Given the description of an element on the screen output the (x, y) to click on. 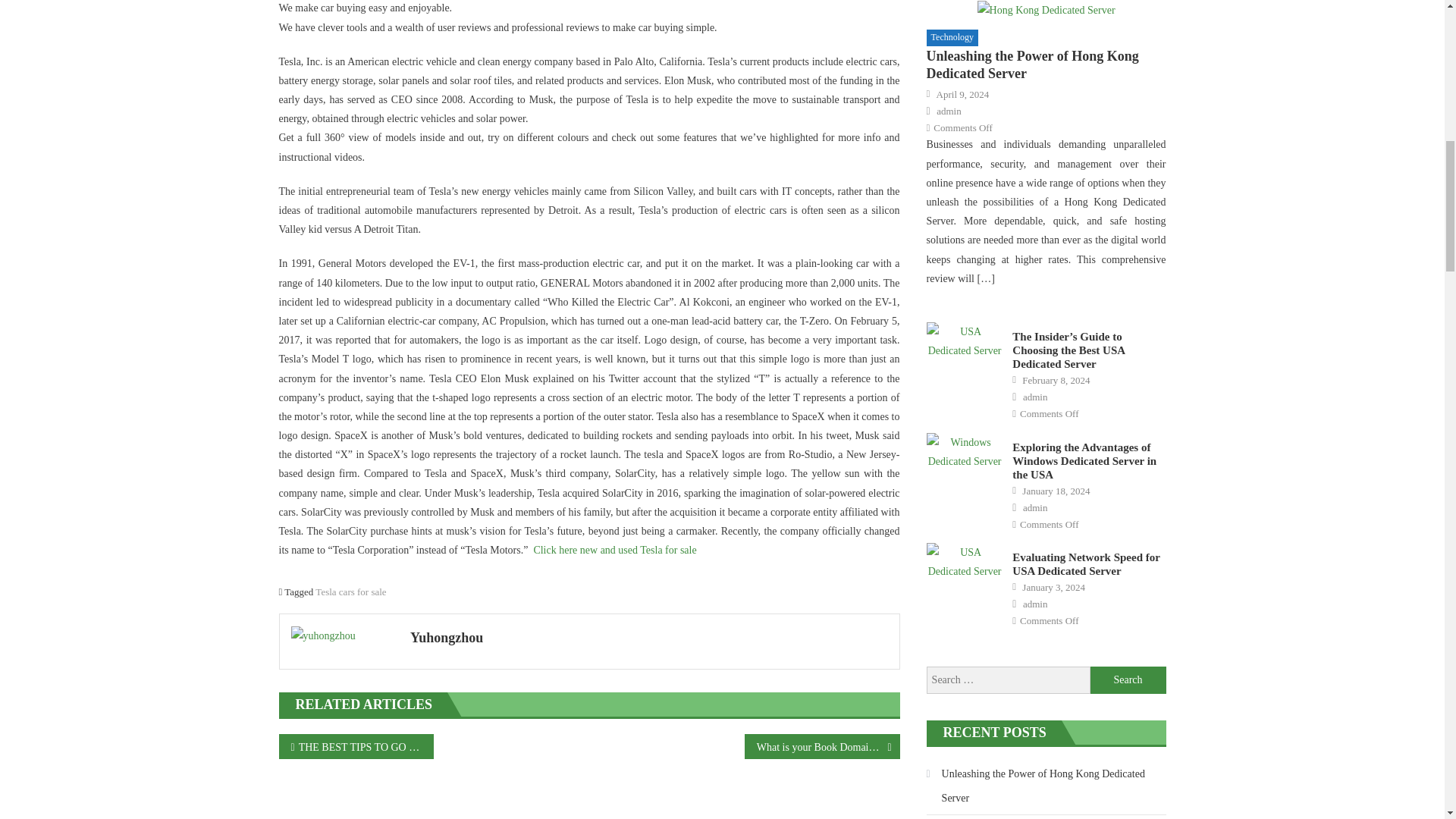
Search (1128, 679)
Unleashing the Power of Hong Kong Dedicated Server (1046, 9)
Evaluating Network Speed for USA Dedicated Server (964, 561)
Search (1128, 679)
